Given the description of an element on the screen output the (x, y) to click on. 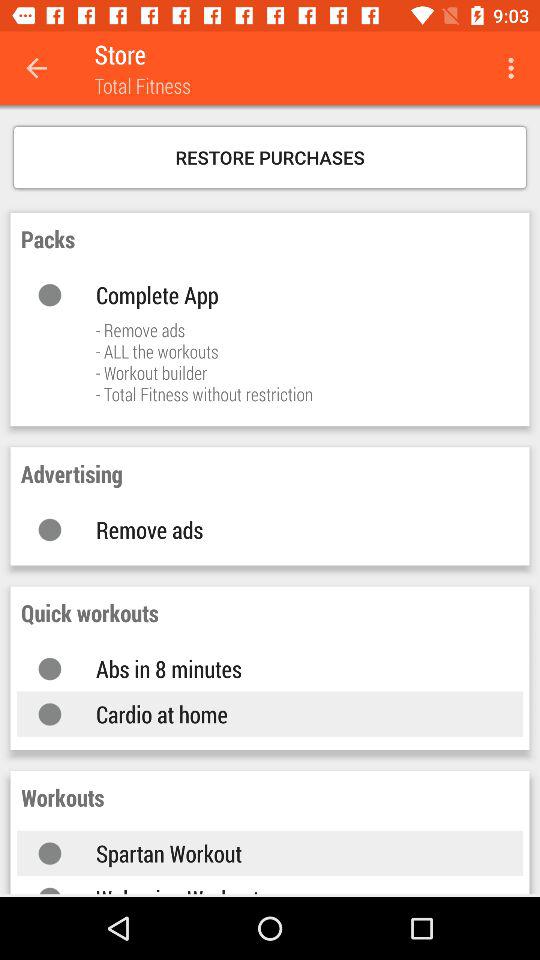
click the abs in 8 icon (289, 668)
